Given the description of an element on the screen output the (x, y) to click on. 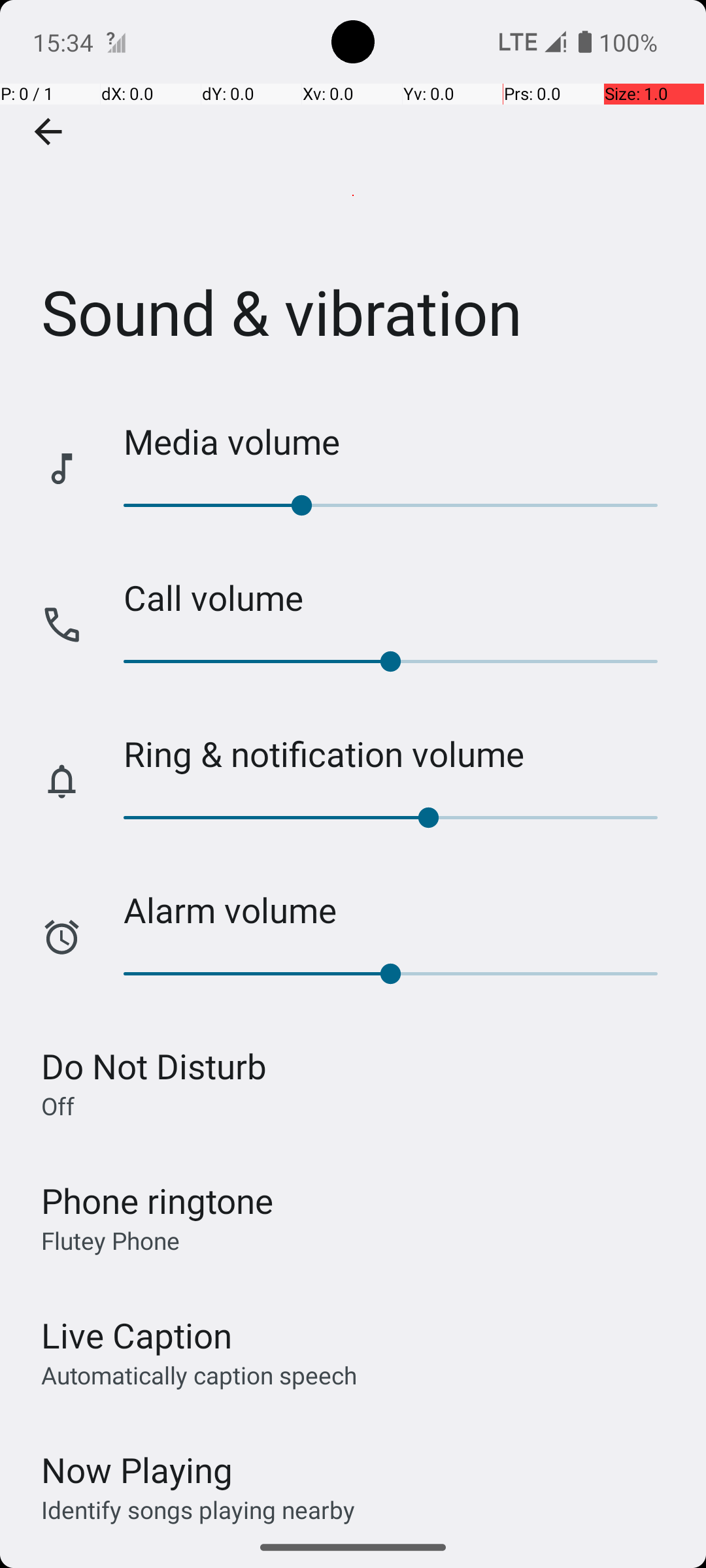
Now Playing Element type: android.widget.TextView (136, 1469)
Identify songs playing nearby Element type: android.widget.TextView (197, 1509)
